Given the description of an element on the screen output the (x, y) to click on. 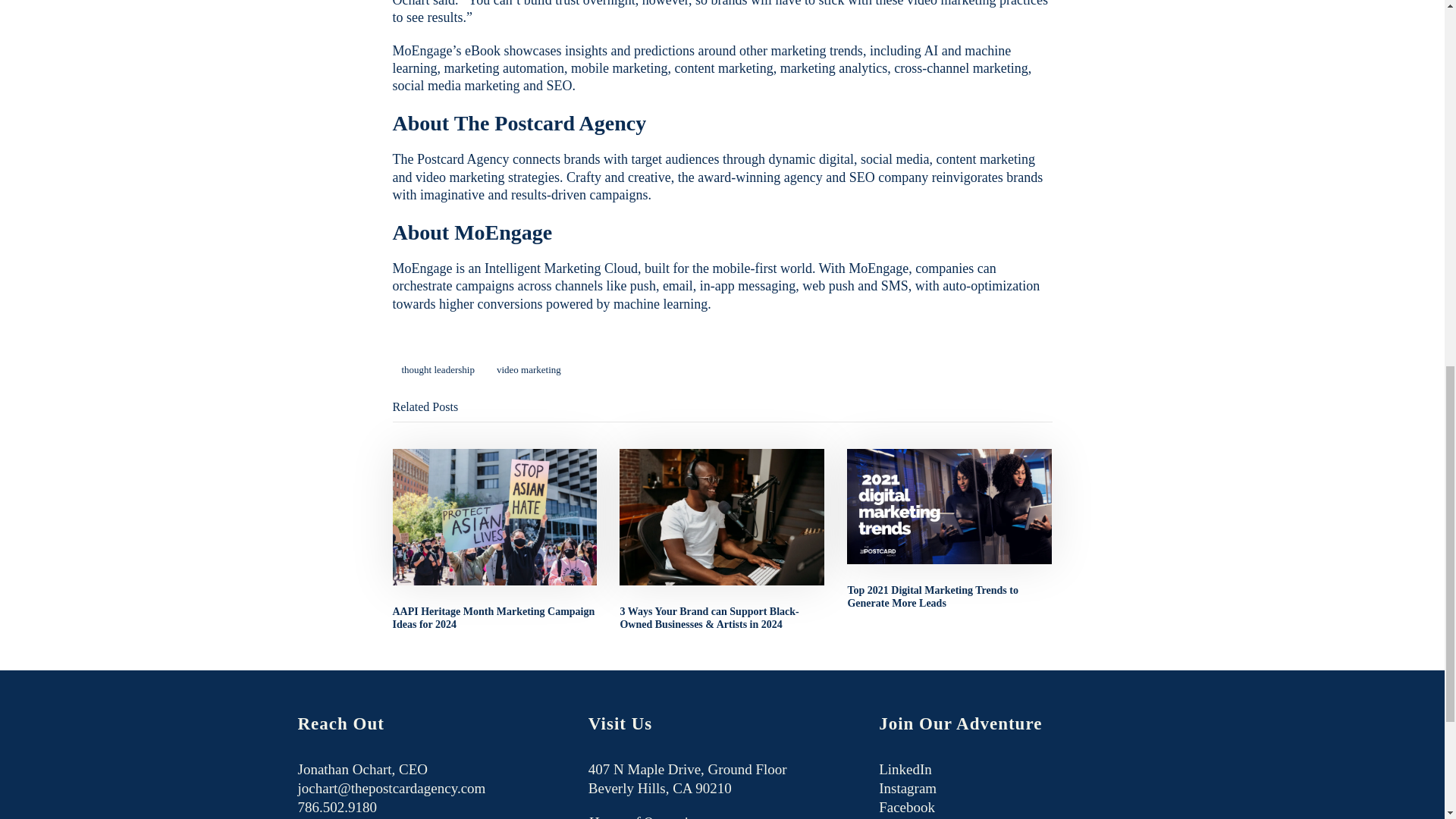
SEO company (888, 177)
video marketing (528, 370)
thought leadership (438, 370)
